Given the description of an element on the screen output the (x, y) to click on. 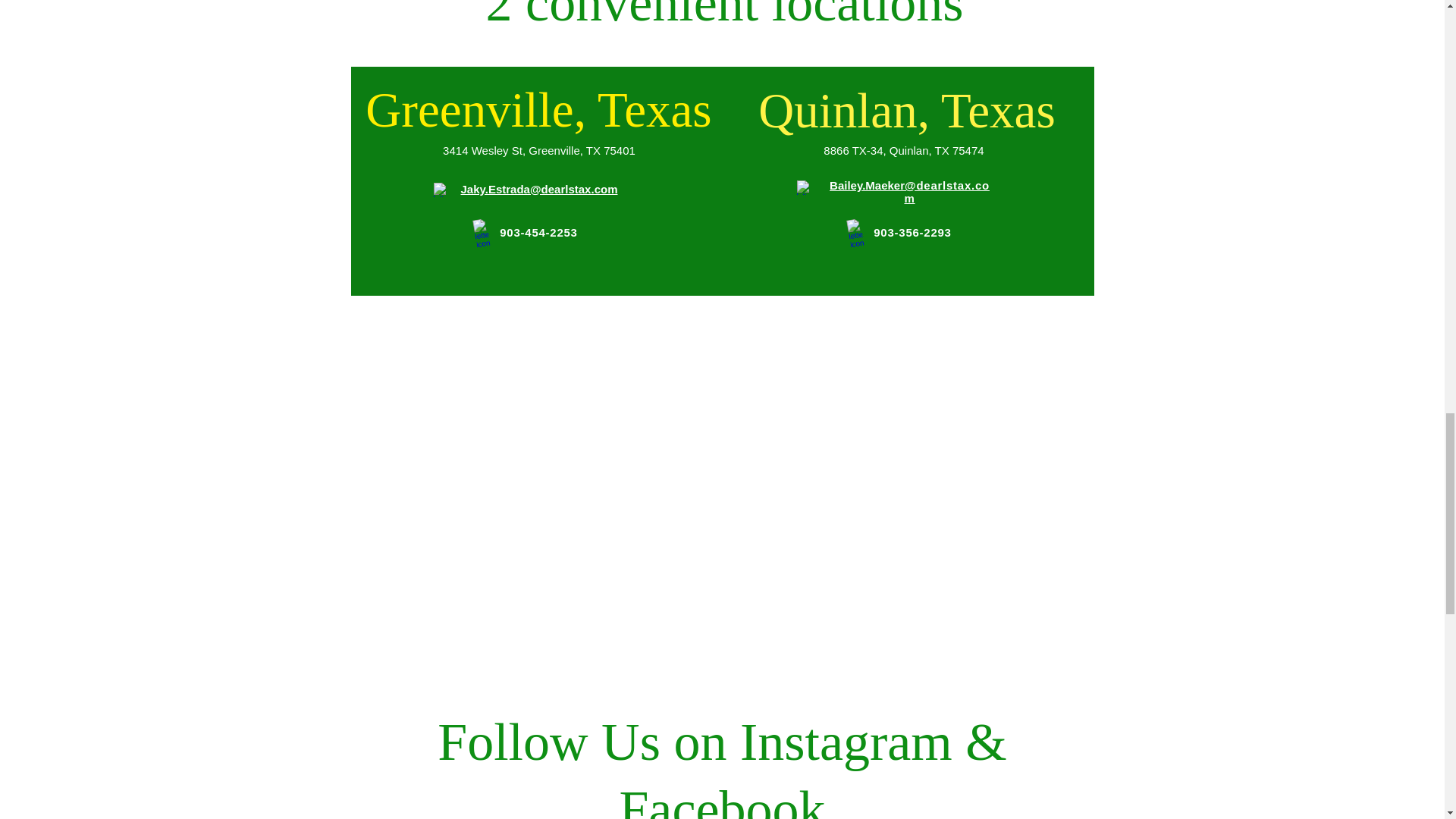
mail.png (807, 187)
903-454-2253 (537, 232)
mail.png (444, 189)
903-356-2293 (911, 232)
phone.png (478, 232)
phone.png (852, 232)
